Given the description of an element on the screen output the (x, y) to click on. 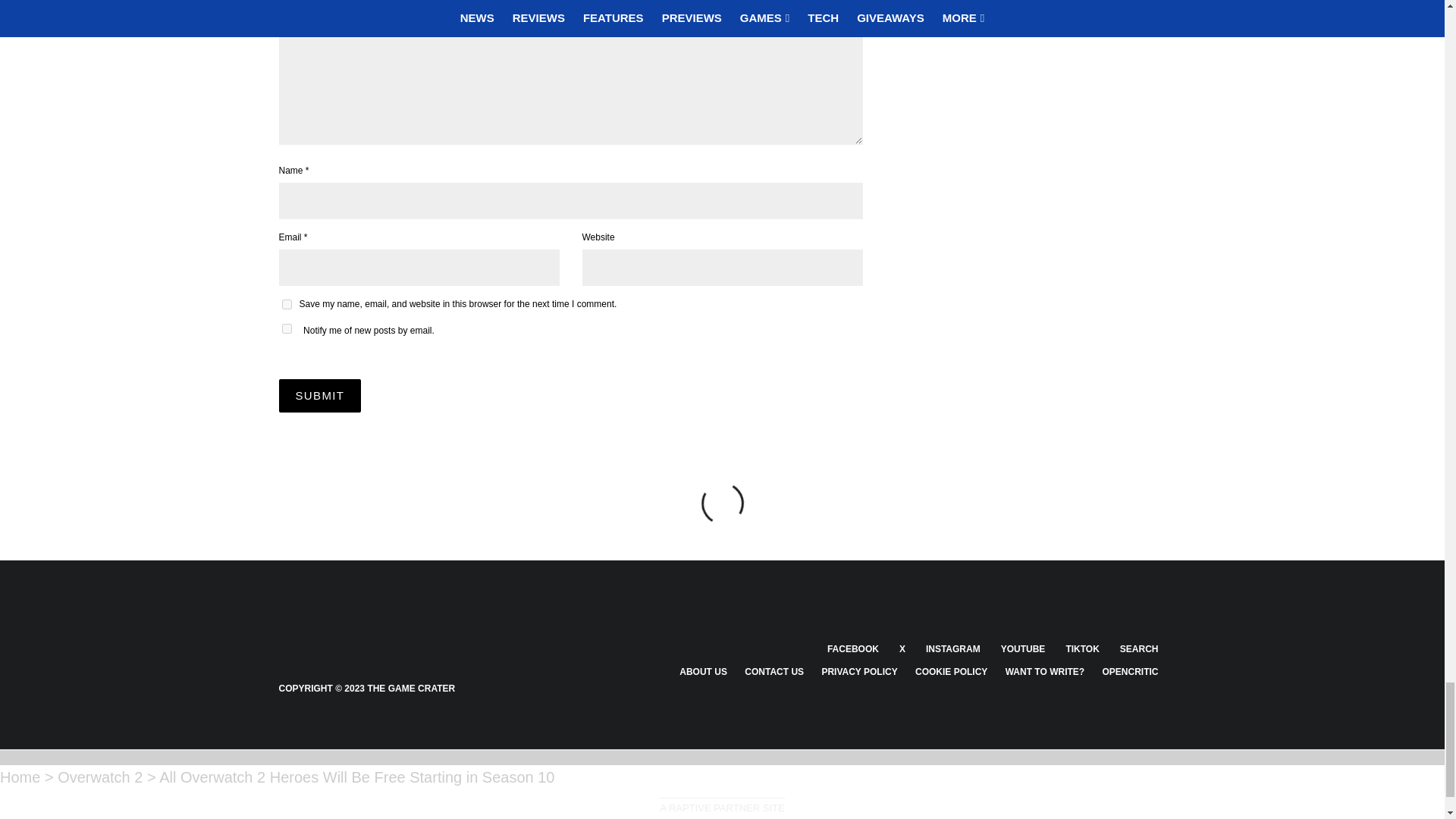
subscribe (287, 328)
yes (287, 304)
Submit (320, 395)
